Given the description of an element on the screen output the (x, y) to click on. 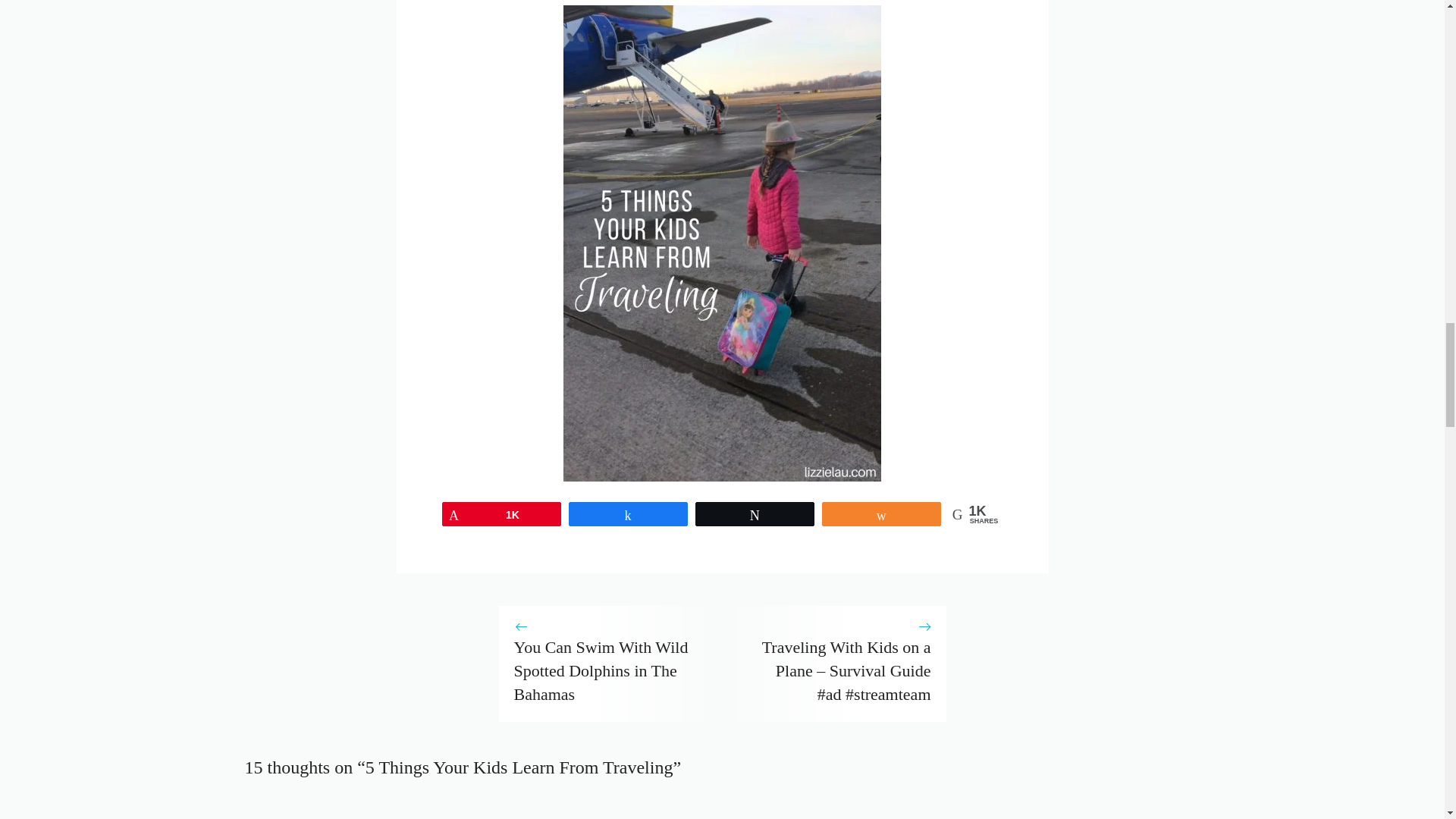
1K (501, 513)
You Can Swim With Wild Spotted Dolphins in The Bahamas (600, 670)
